Given the description of an element on the screen output the (x, y) to click on. 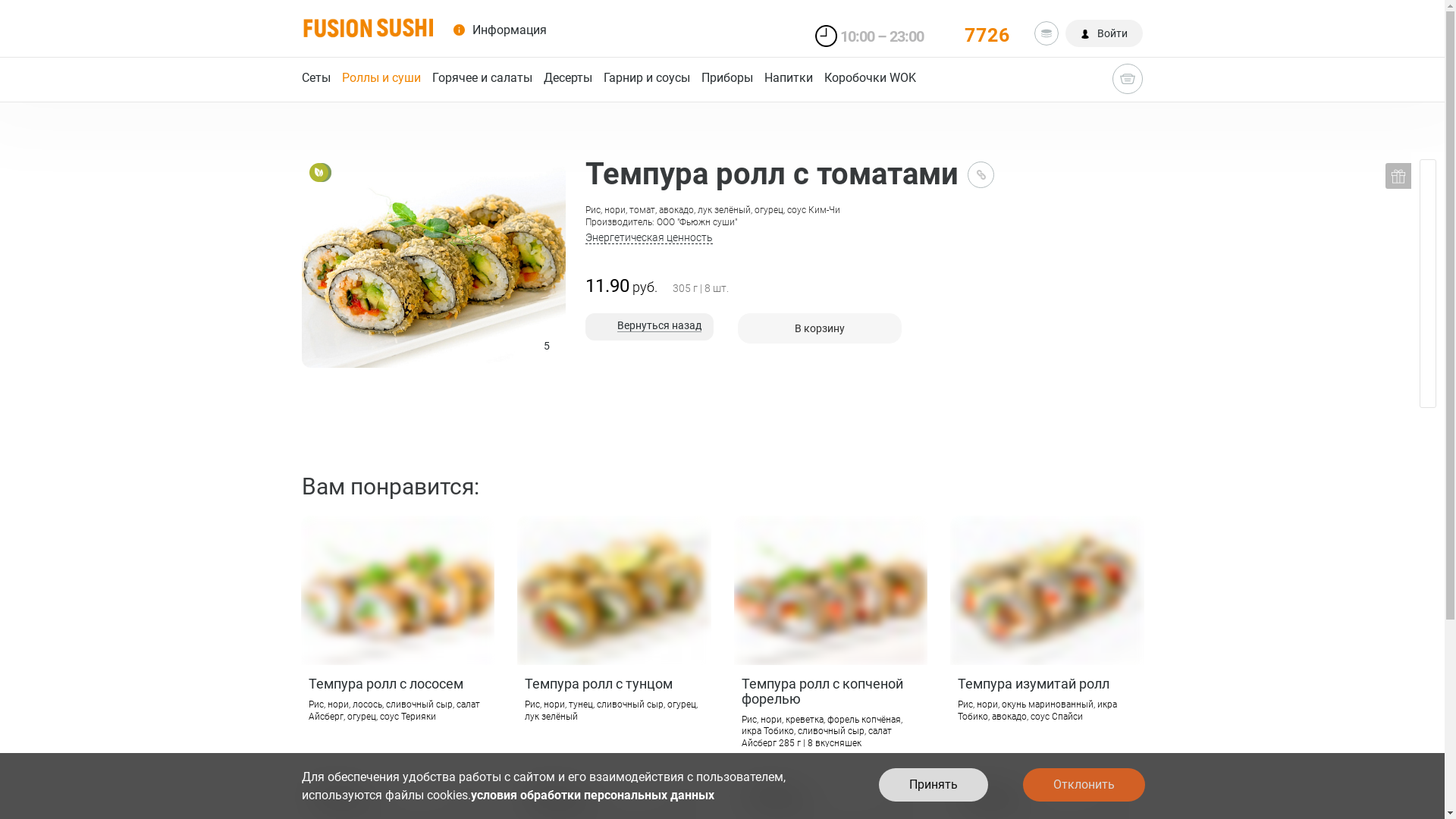
5 Element type: hover (830, 590)
5 Element type: hover (396, 590)
5 Element type: hover (1046, 590)
5 Element type: hover (613, 590)
Go VEGAN Element type: hover (321, 172)
7726 Element type: text (977, 32)
